Given the description of an element on the screen output the (x, y) to click on. 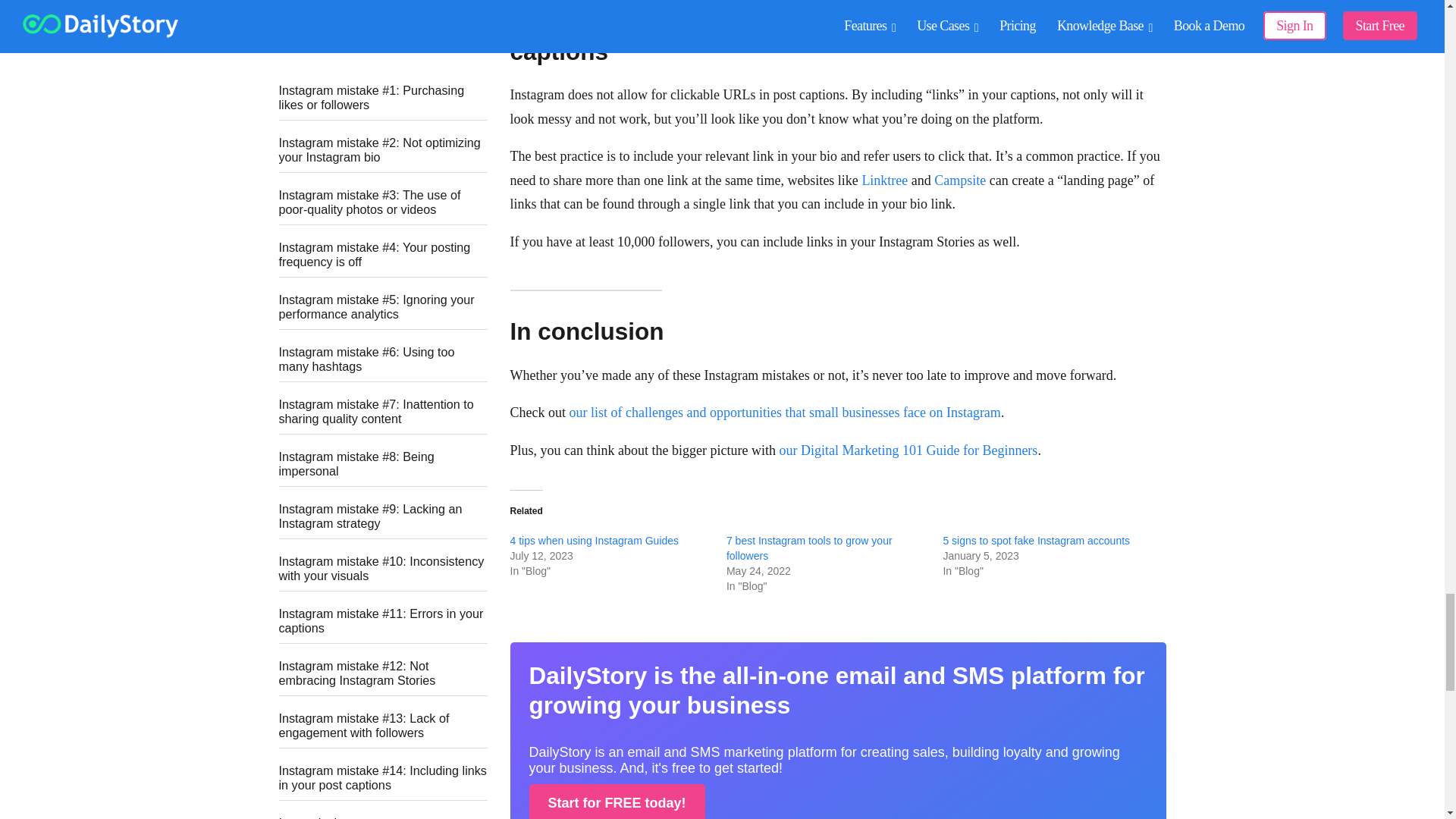
5 signs to spot fake Instagram accounts (1035, 540)
4 tips when using Instagram Guides (593, 540)
7 best Instagram tools to grow your followers (809, 547)
